Given the description of an element on the screen output the (x, y) to click on. 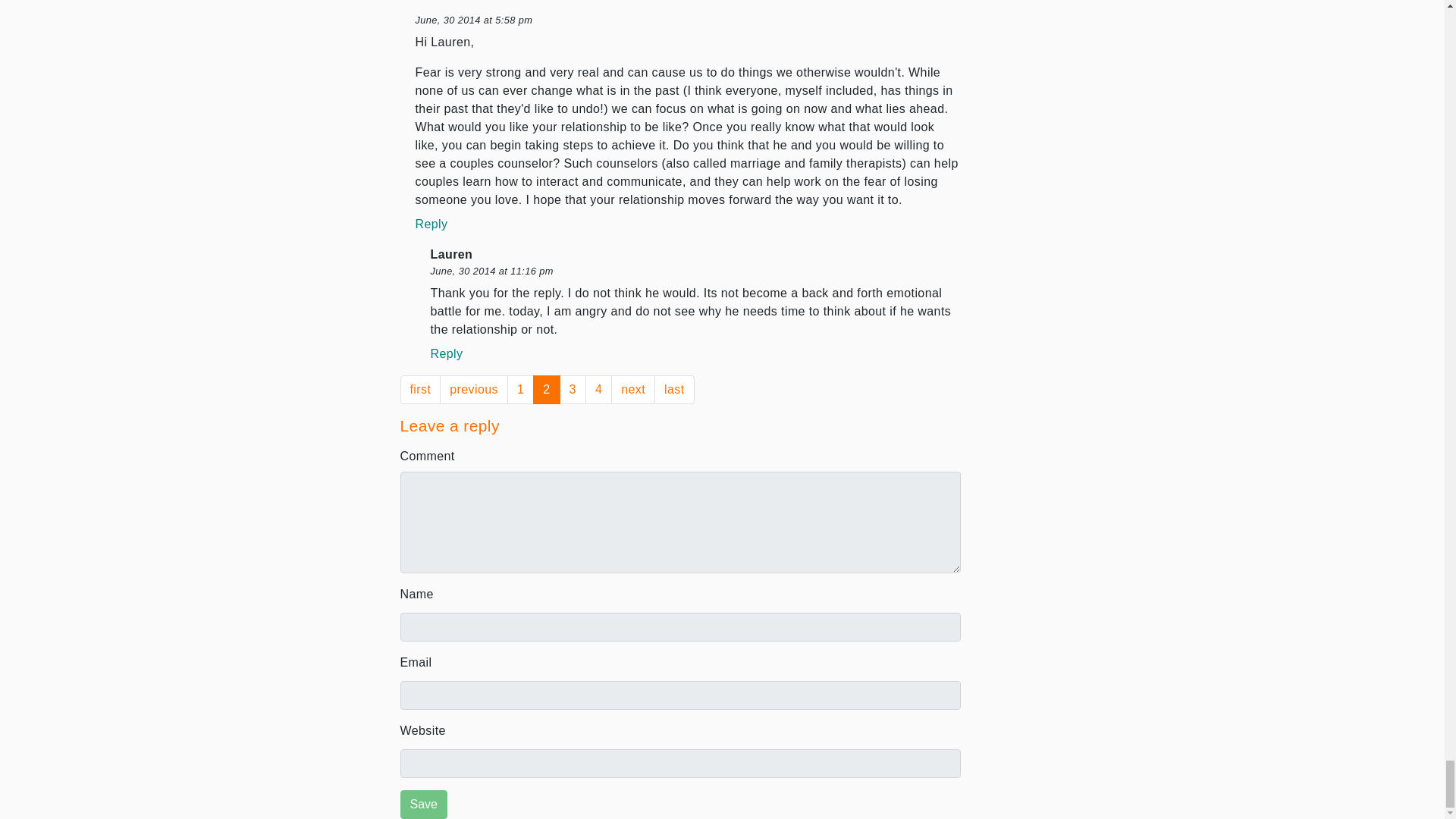
Go to page 3 (572, 389)
Go to last page (673, 389)
Go to next page (633, 389)
Go to first page (420, 389)
Go to previous page (473, 389)
Go to page 4 (598, 389)
Current page (545, 389)
Go to page 1 (520, 389)
